Given the description of an element on the screen output the (x, y) to click on. 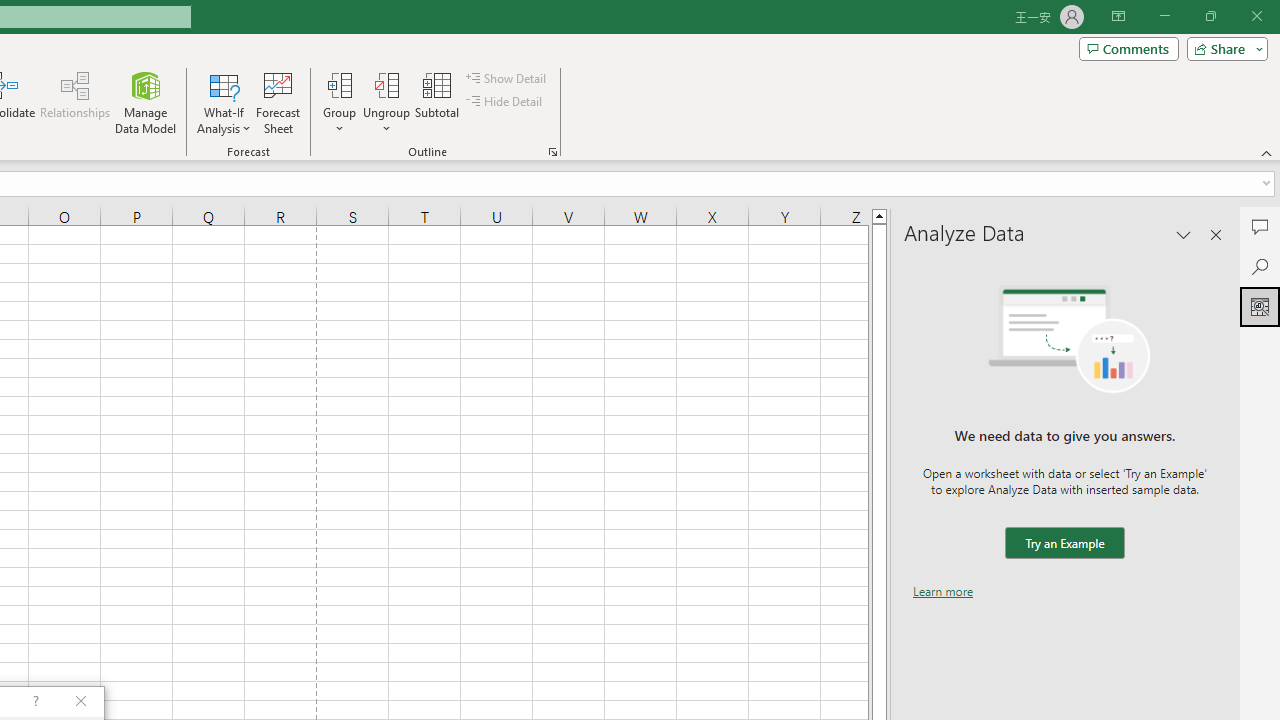
Learn more (943, 591)
Show Detail (507, 78)
We need data to give you answers. Try an Example (1064, 543)
Manage Data Model (145, 102)
Relationships (75, 102)
